Given the description of an element on the screen output the (x, y) to click on. 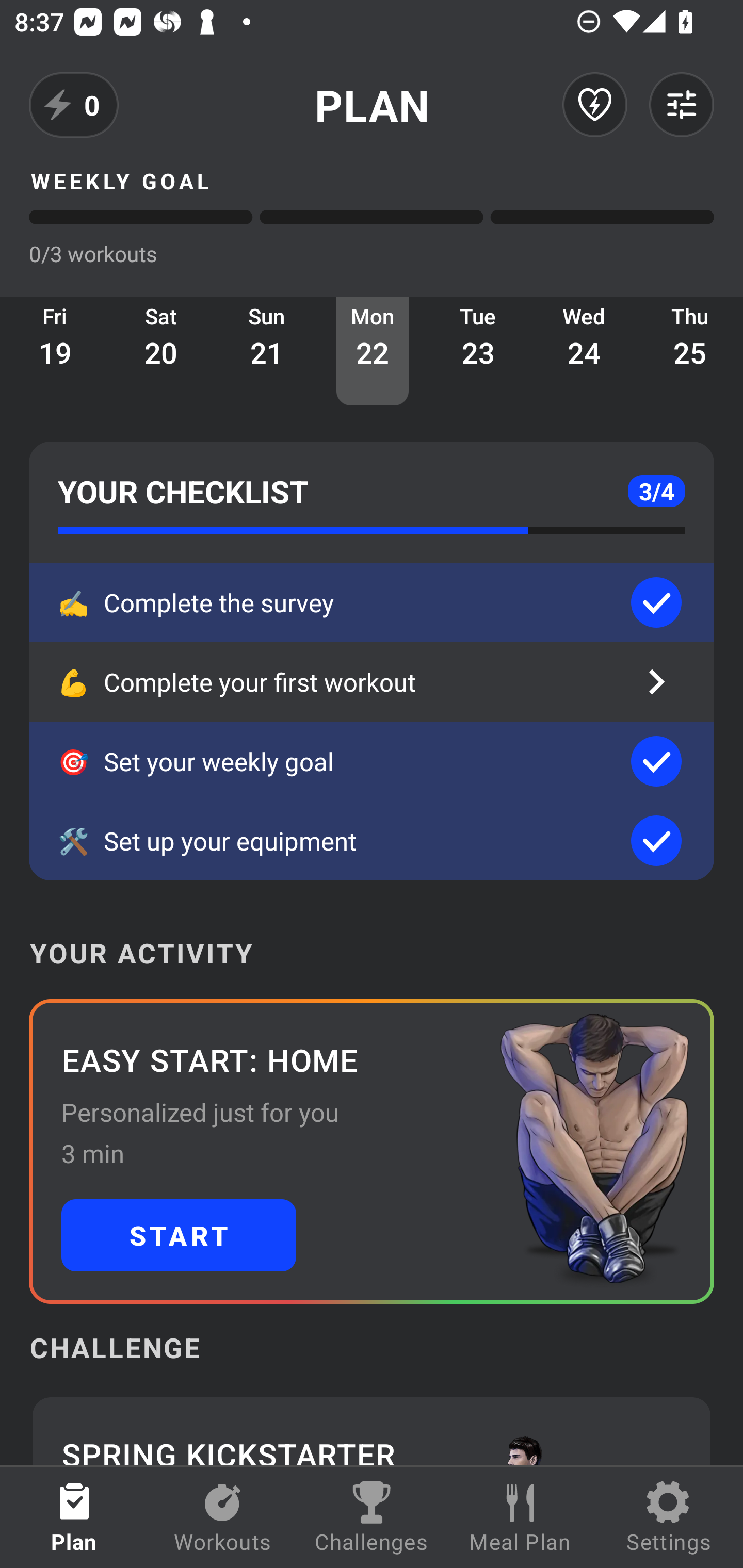
0 (73, 104)
Fri 19 (55, 351)
Sat 20 (160, 351)
Sun 21 (266, 351)
Mon 22 (372, 351)
Tue 23 (478, 351)
Wed 24 (584, 351)
Thu 25 (690, 351)
💪 Complete your first workout (371, 681)
START (178, 1235)
 Workouts  (222, 1517)
 Challenges  (371, 1517)
 Meal Plan  (519, 1517)
 Settings  (668, 1517)
